Given the description of an element on the screen output the (x, y) to click on. 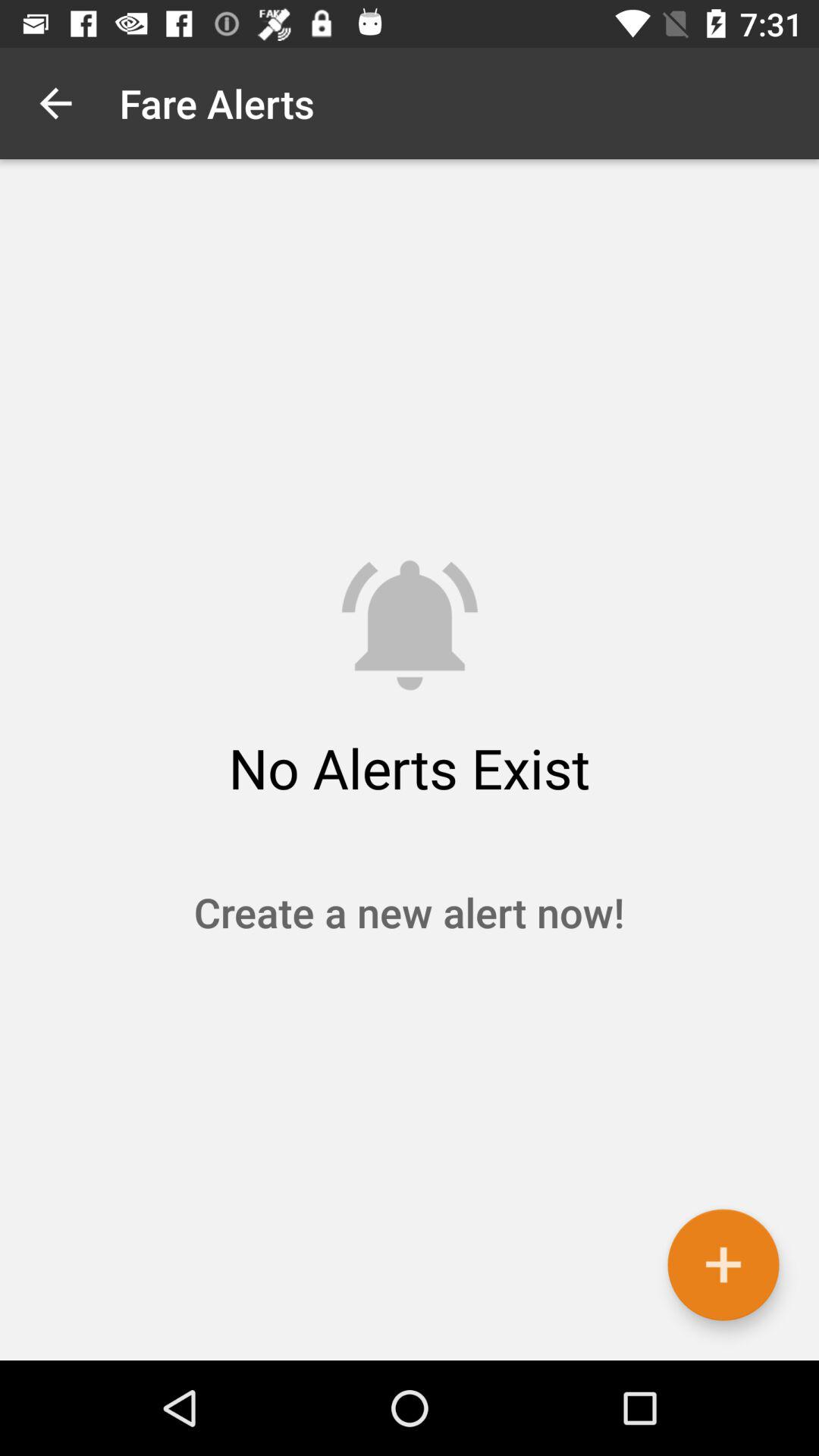
click icon to the left of fare alerts (55, 103)
